Given the description of an element on the screen output the (x, y) to click on. 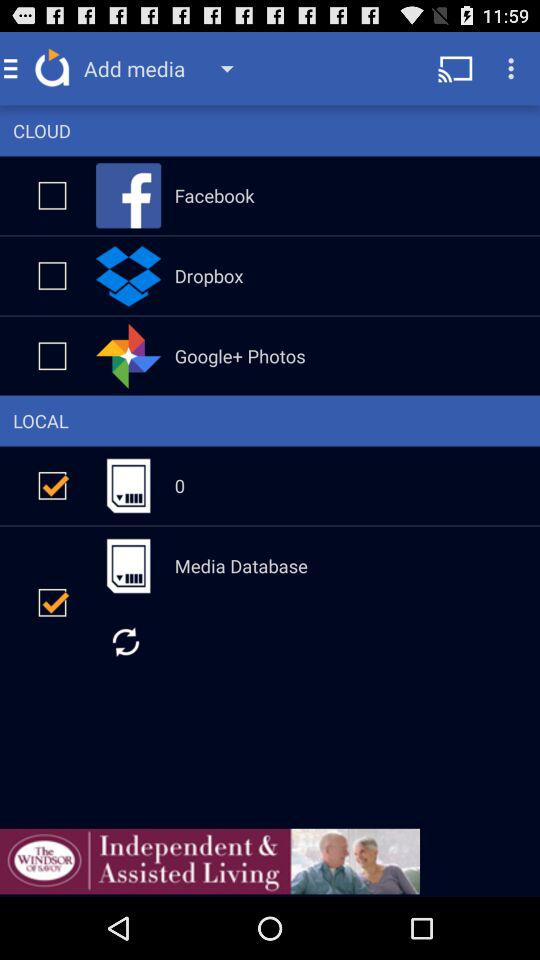
rotate app (125, 641)
